Given the description of an element on the screen output the (x, y) to click on. 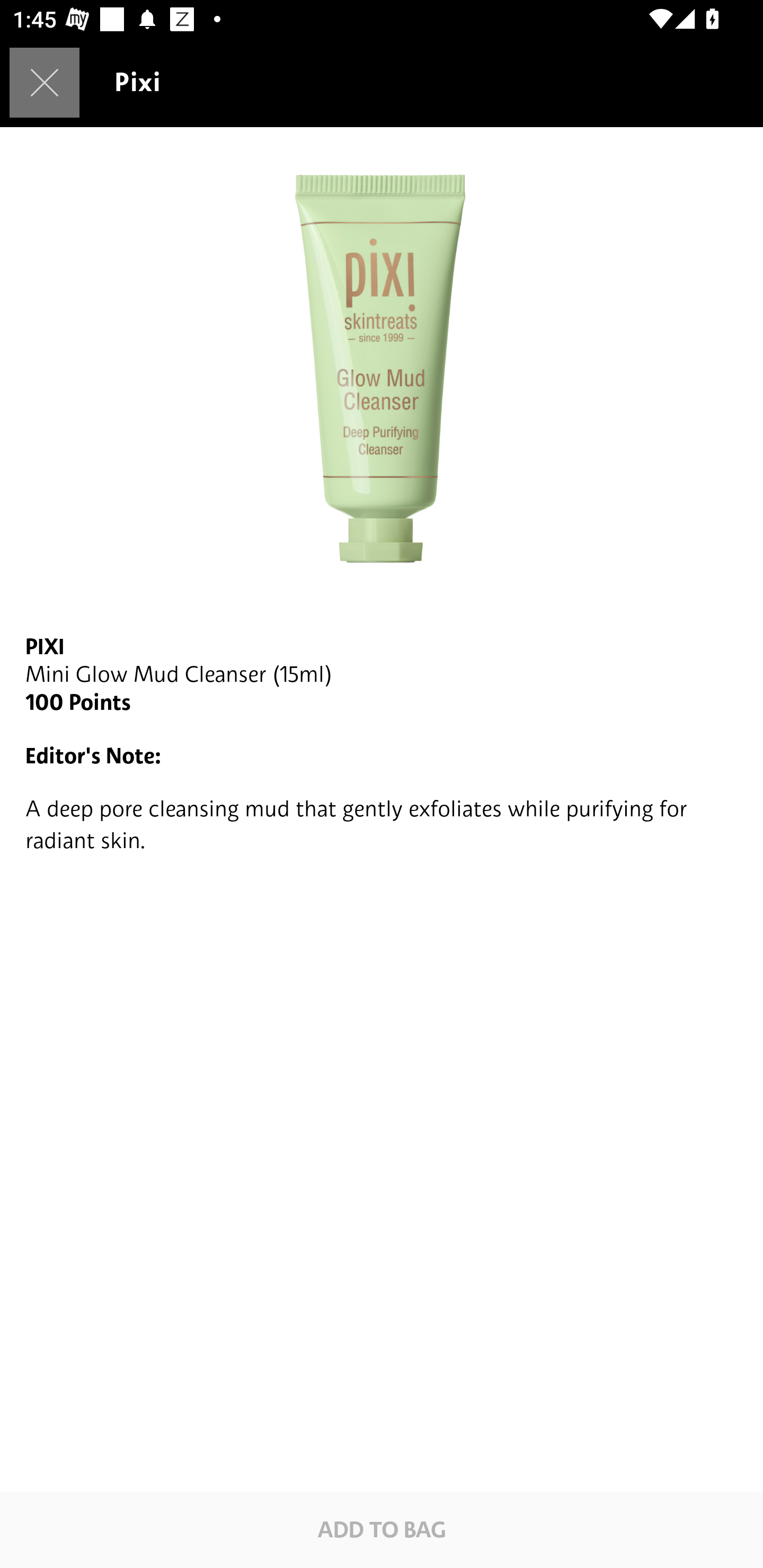
ADD TO BAG (381, 1529)
